Given the description of an element on the screen output the (x, y) to click on. 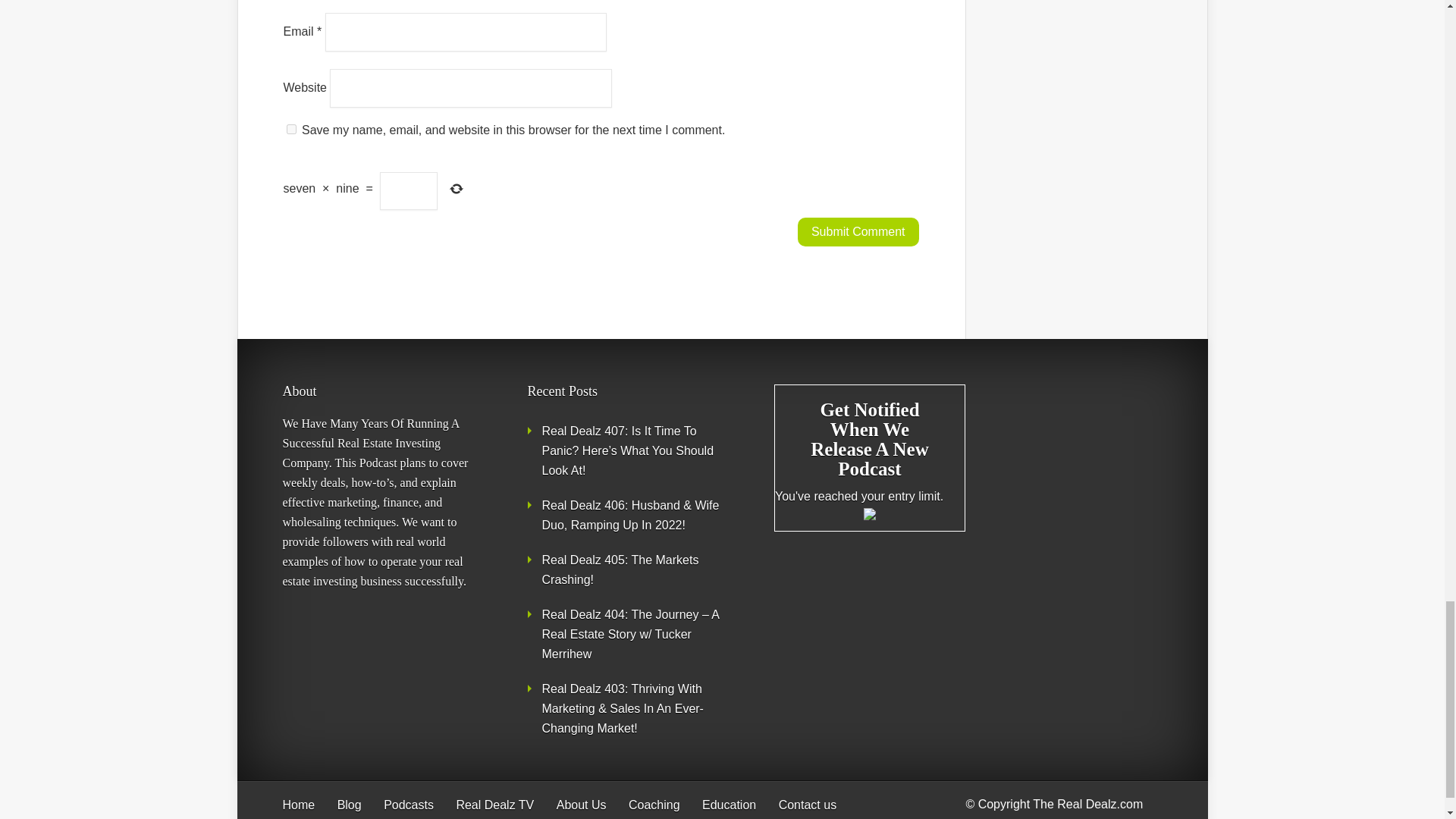
yes (291, 129)
Submit Comment (857, 231)
